Given the description of an element on the screen output the (x, y) to click on. 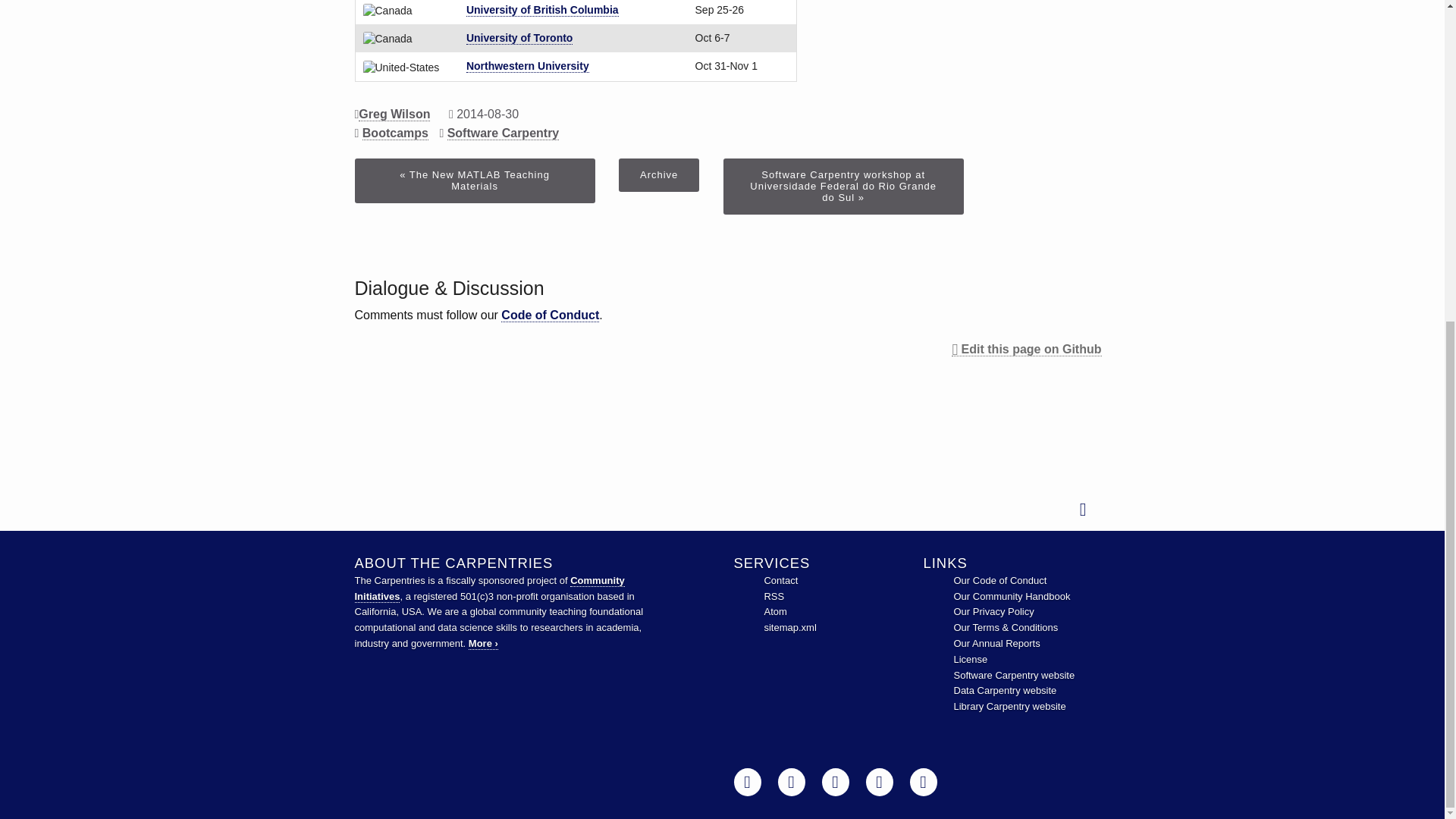
Subscribe to RSS Feed (773, 595)
Library Carpentry (1009, 706)
Contact (779, 580)
Community Handbook (1011, 595)
Software Carpentry (1014, 674)
Data Carpentry (1005, 690)
Terms and Conditions (1005, 627)
License (970, 659)
Our Reports (997, 643)
Subscribe to Atom Feed (774, 611)
